Given the description of an element on the screen output the (x, y) to click on. 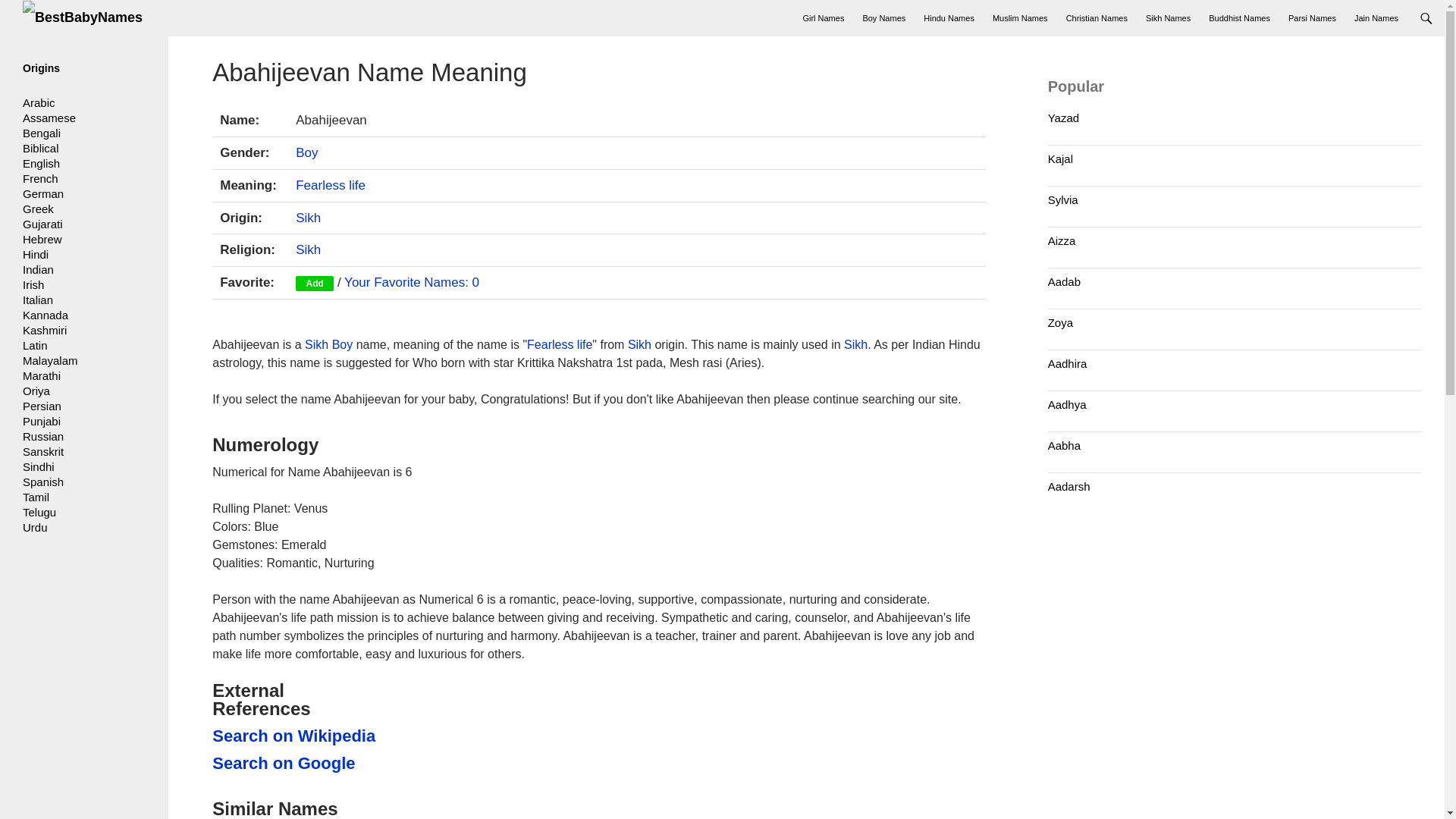
Sikh (307, 249)
Sikh (638, 344)
Parsi Names (1312, 18)
Search on Google (295, 763)
Sikh Names (1168, 18)
Your Favorite Names: 0 (411, 282)
Boy Names (883, 18)
Sikh (855, 344)
Add (314, 283)
Fearless life (330, 185)
Jain Names (1376, 18)
Muslim Names (1020, 18)
Search on Wikipedia (295, 736)
Girl Names (823, 18)
Sikh (307, 217)
